Given the description of an element on the screen output the (x, y) to click on. 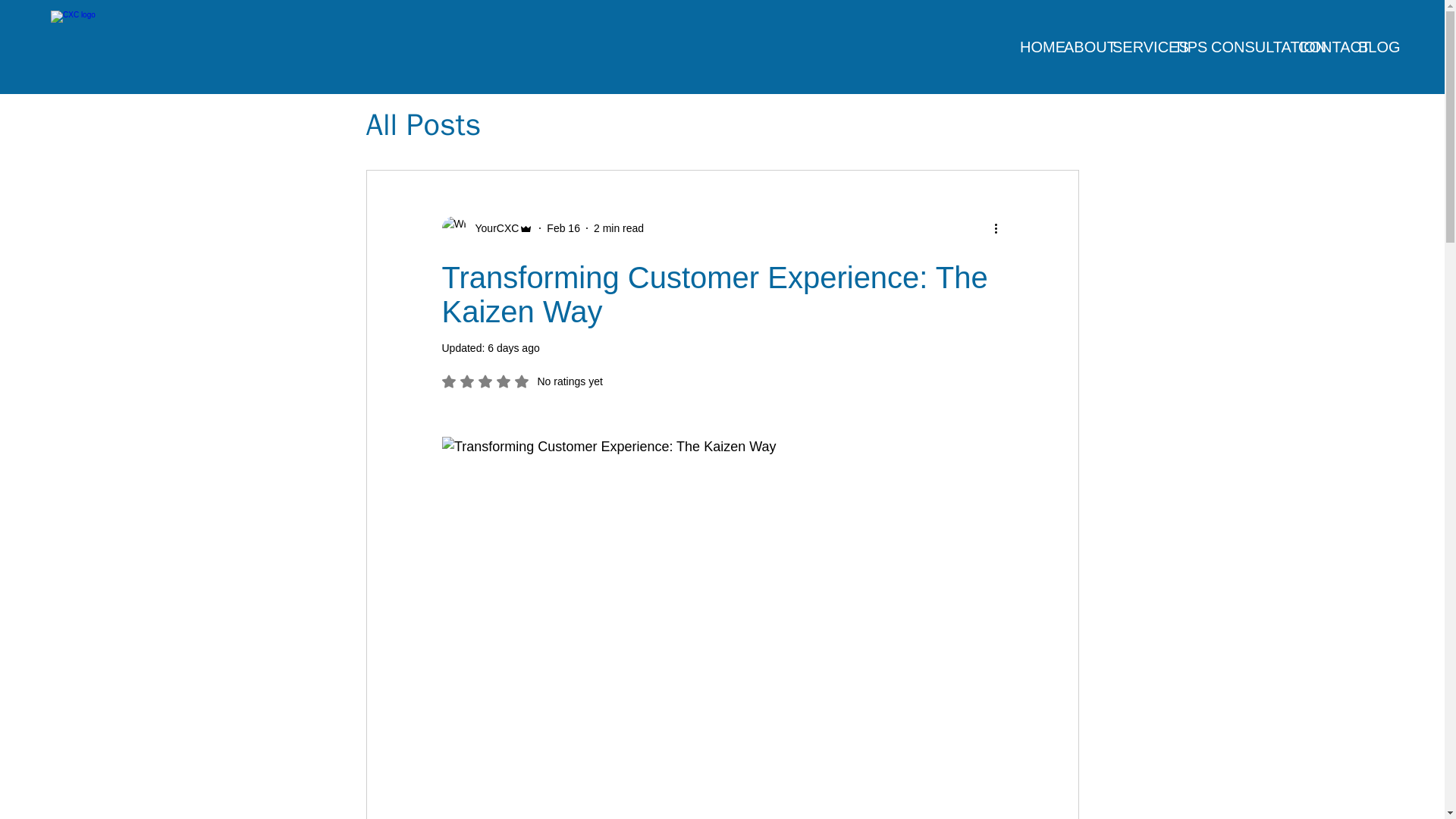
ABOUT (1081, 45)
HOME (1034, 45)
2 min read (618, 227)
Feb 16 (563, 227)
BLOG (1371, 45)
TIPS (1185, 45)
YourCXC (491, 227)
CONSULTATION (1247, 45)
YourCXC (486, 228)
6 days ago (513, 347)
